Given the description of an element on the screen output the (x, y) to click on. 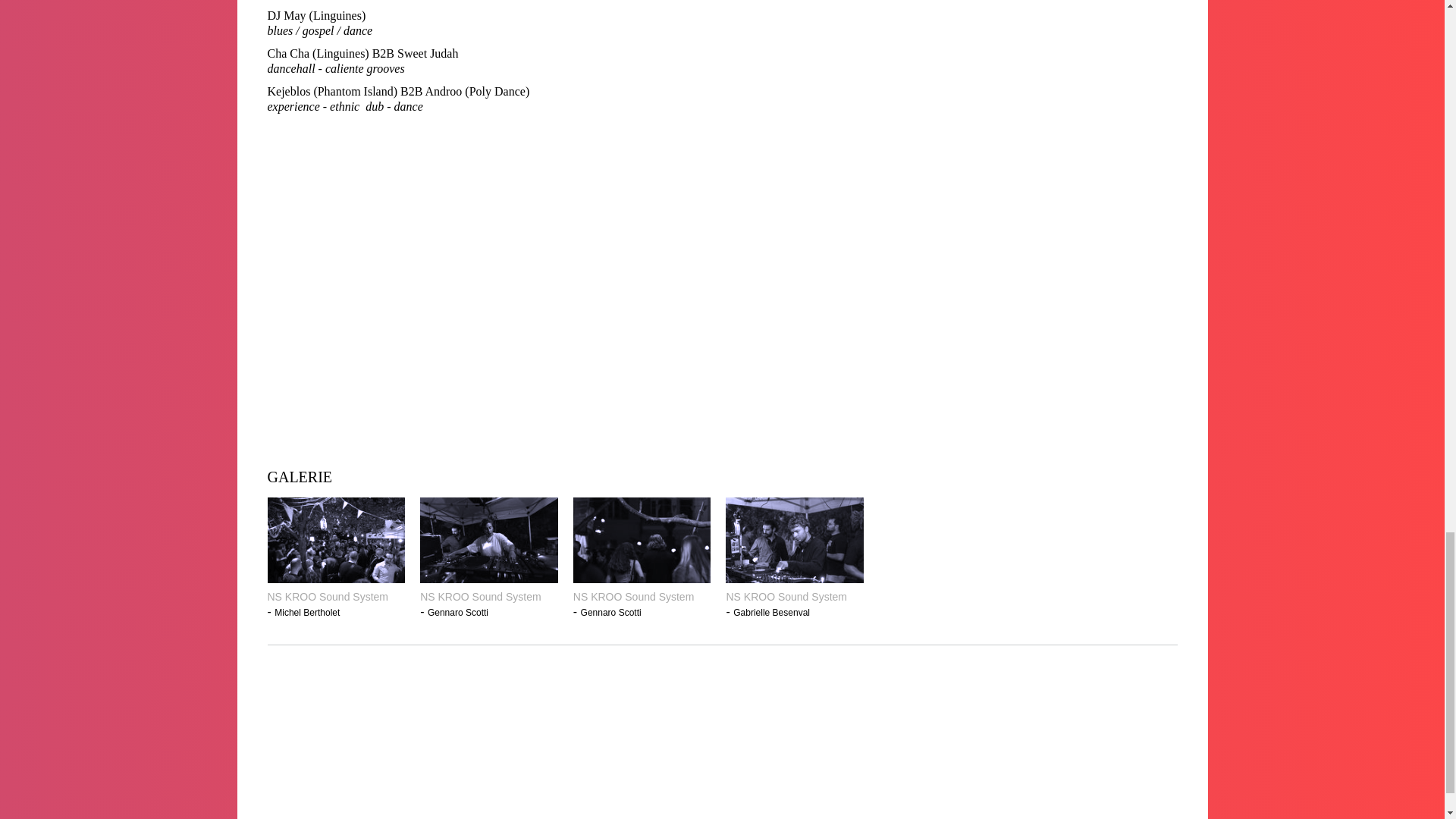
NS KROO Sound System (488, 596)
Ville de Lausanne (1107, 699)
Parking Riponne (798, 699)
Banque Migros (491, 699)
Campari (798, 772)
Canton de Vaud (491, 772)
SIL (644, 699)
Bureau A (953, 699)
NS KROO Sound System (642, 596)
NS KROO Sound System (794, 596)
24 heures (953, 772)
Loterie Romande (1107, 772)
NS KROO Sound System (335, 596)
ProHelvetia (336, 772)
